Given the description of an element on the screen output the (x, y) to click on. 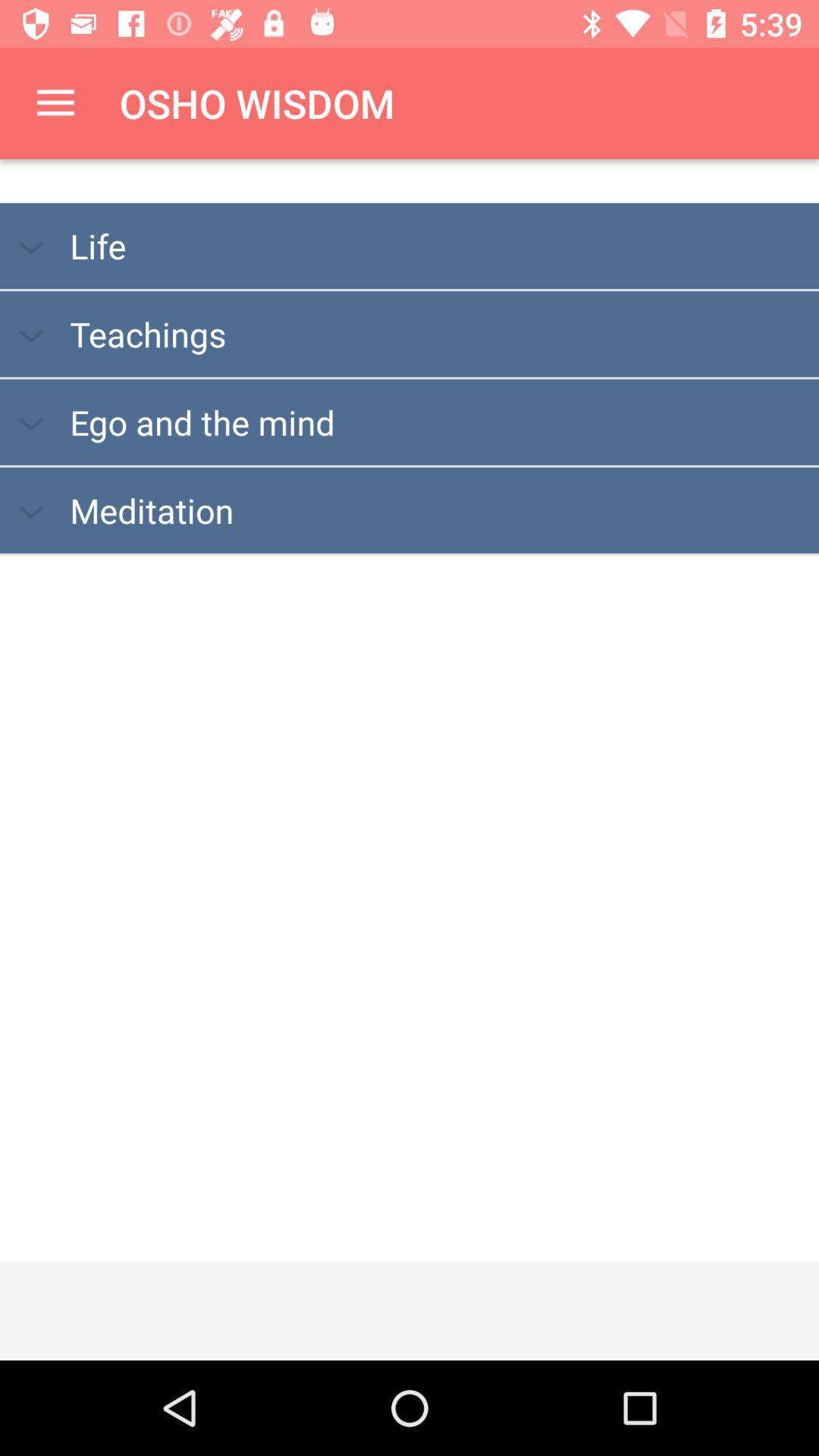
tap the item next to osho wisdom item (55, 103)
